Given the description of an element on the screen output the (x, y) to click on. 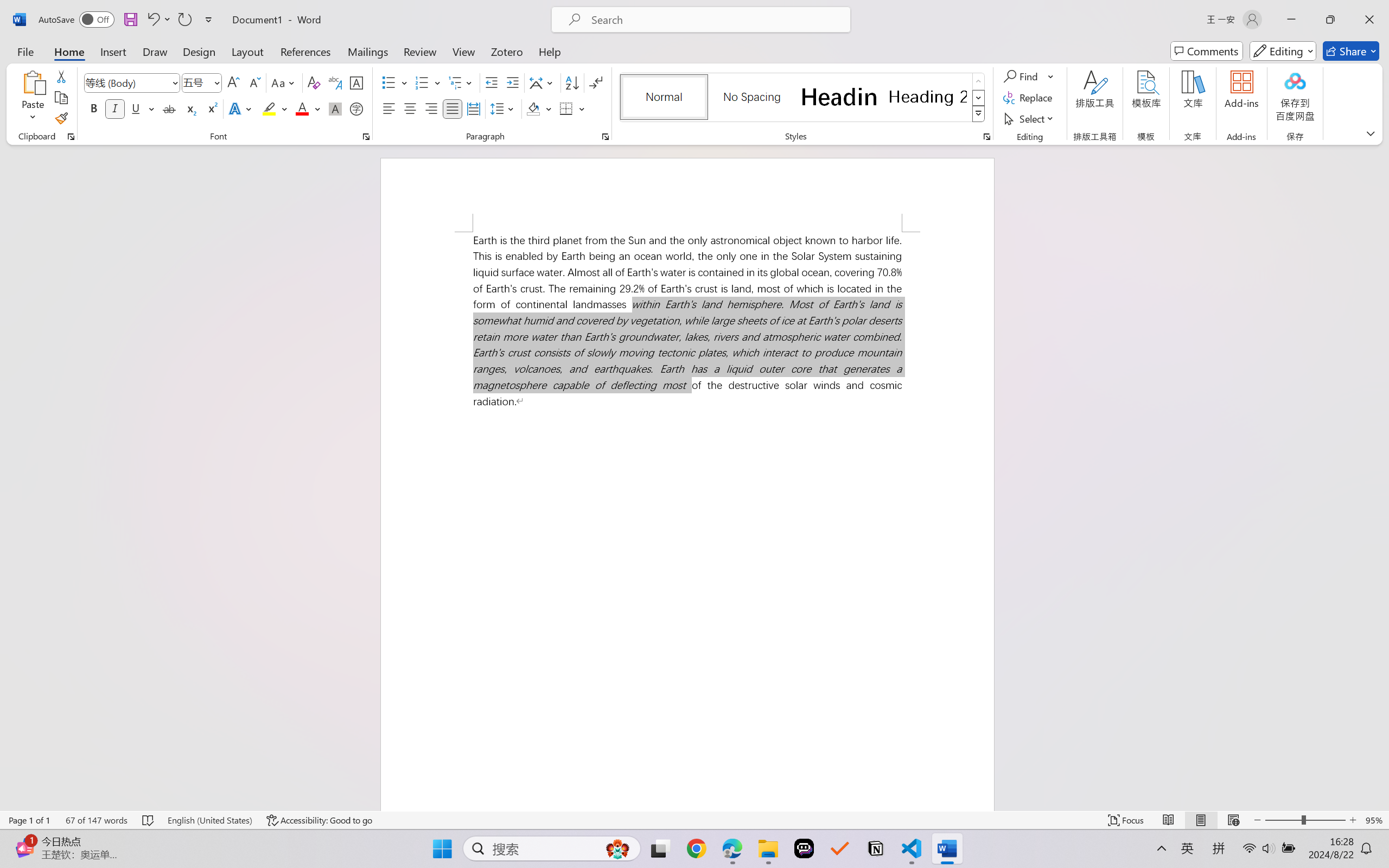
Office Clipboard... (70, 136)
Multilevel List (461, 82)
Font Color (308, 108)
Subscript (190, 108)
Align Right (431, 108)
